Given the description of an element on the screen output the (x, y) to click on. 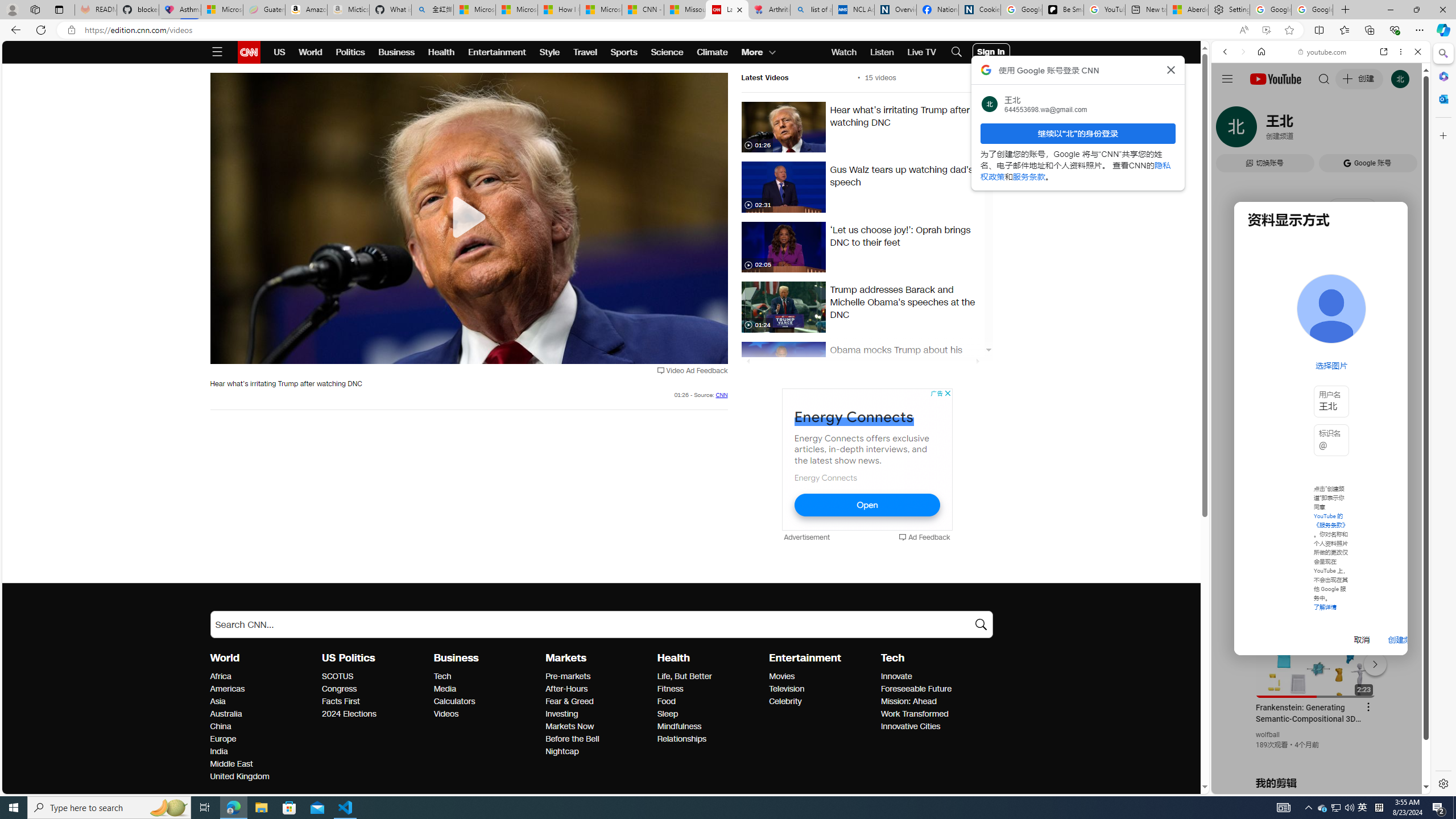
2024 Elections (373, 714)
World Africa (220, 676)
World Asia (217, 701)
YouTube - YouTube (1315, 560)
Health Mindfulness (678, 726)
China (262, 726)
Markets After-Hours (567, 688)
EntertainmentMoviesTelevisionCelebrity (824, 678)
Markets Pre-markets (568, 676)
Health Fitness (670, 688)
